Given the description of an element on the screen output the (x, y) to click on. 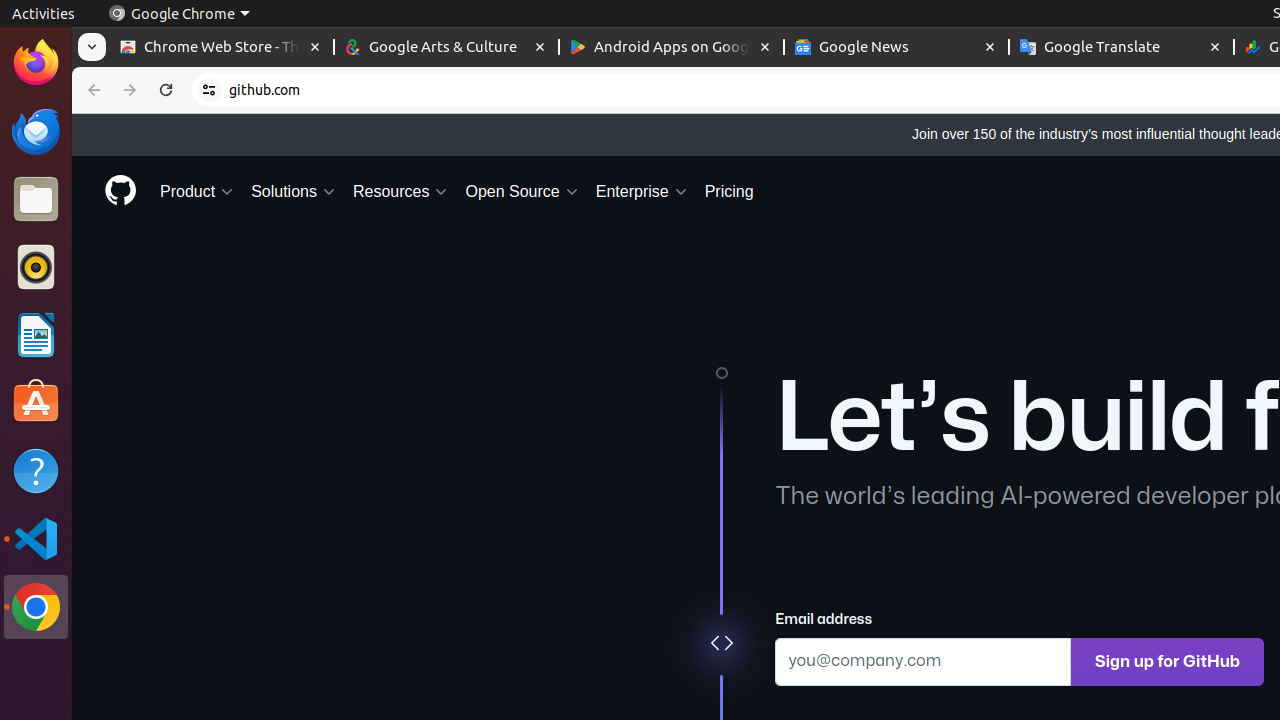
Ubuntu Software Element type: push-button (36, 402)
LibreOffice Writer Element type: push-button (36, 334)
Sign up for GitHub Element type: push-button (1167, 661)
View site information Element type: push-button (209, 90)
Google Chrome Element type: menu (179, 13)
